Given the description of an element on the screen output the (x, y) to click on. 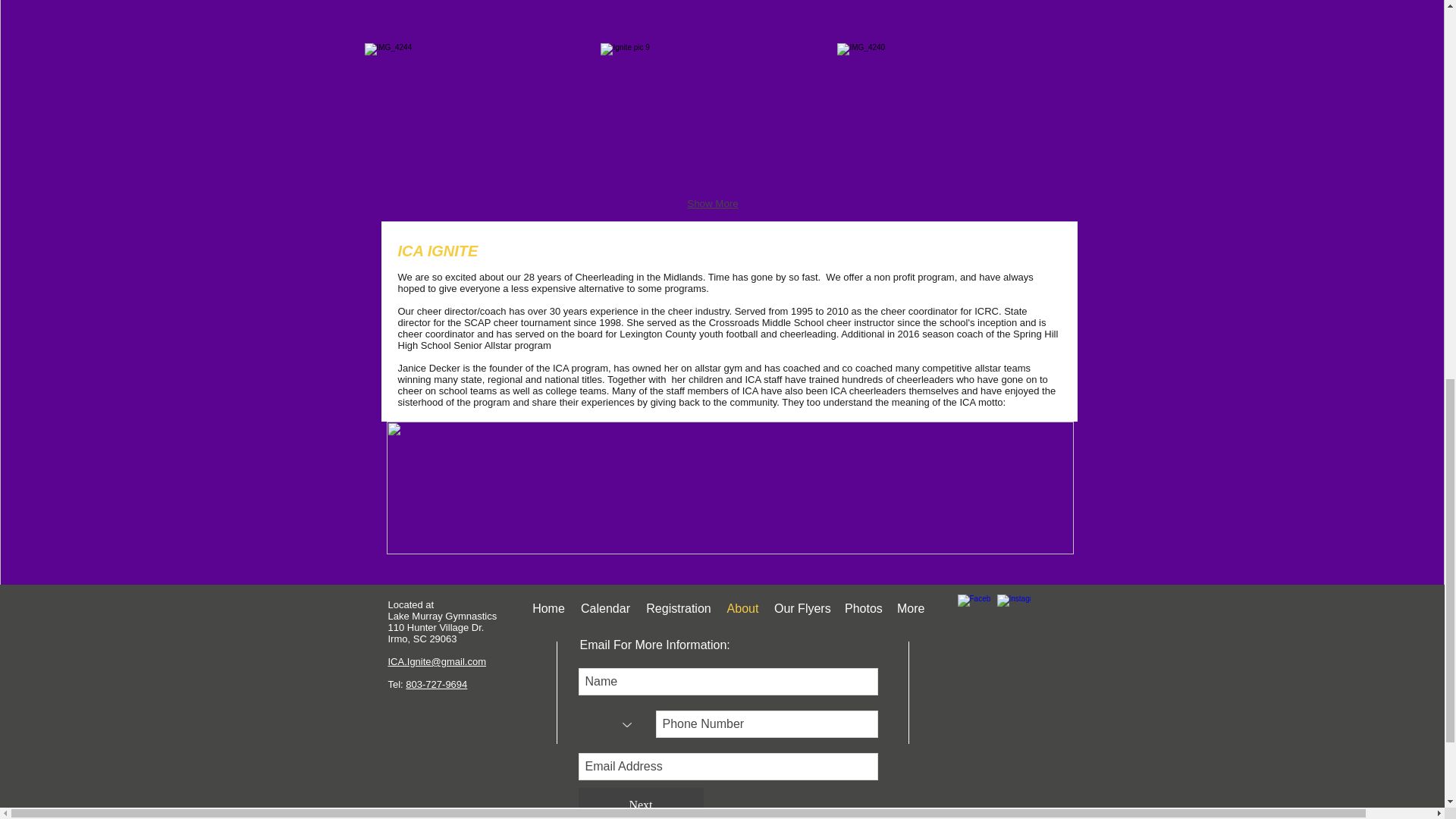
Next (640, 803)
About (743, 608)
Show More (712, 204)
Home (548, 608)
Photos (863, 608)
Registration (679, 608)
Our Flyers (802, 608)
Dream, Believe, Achieve-01.png (730, 487)
803-727-9694 (436, 684)
Calendar (605, 608)
